Given the description of an element on the screen output the (x, y) to click on. 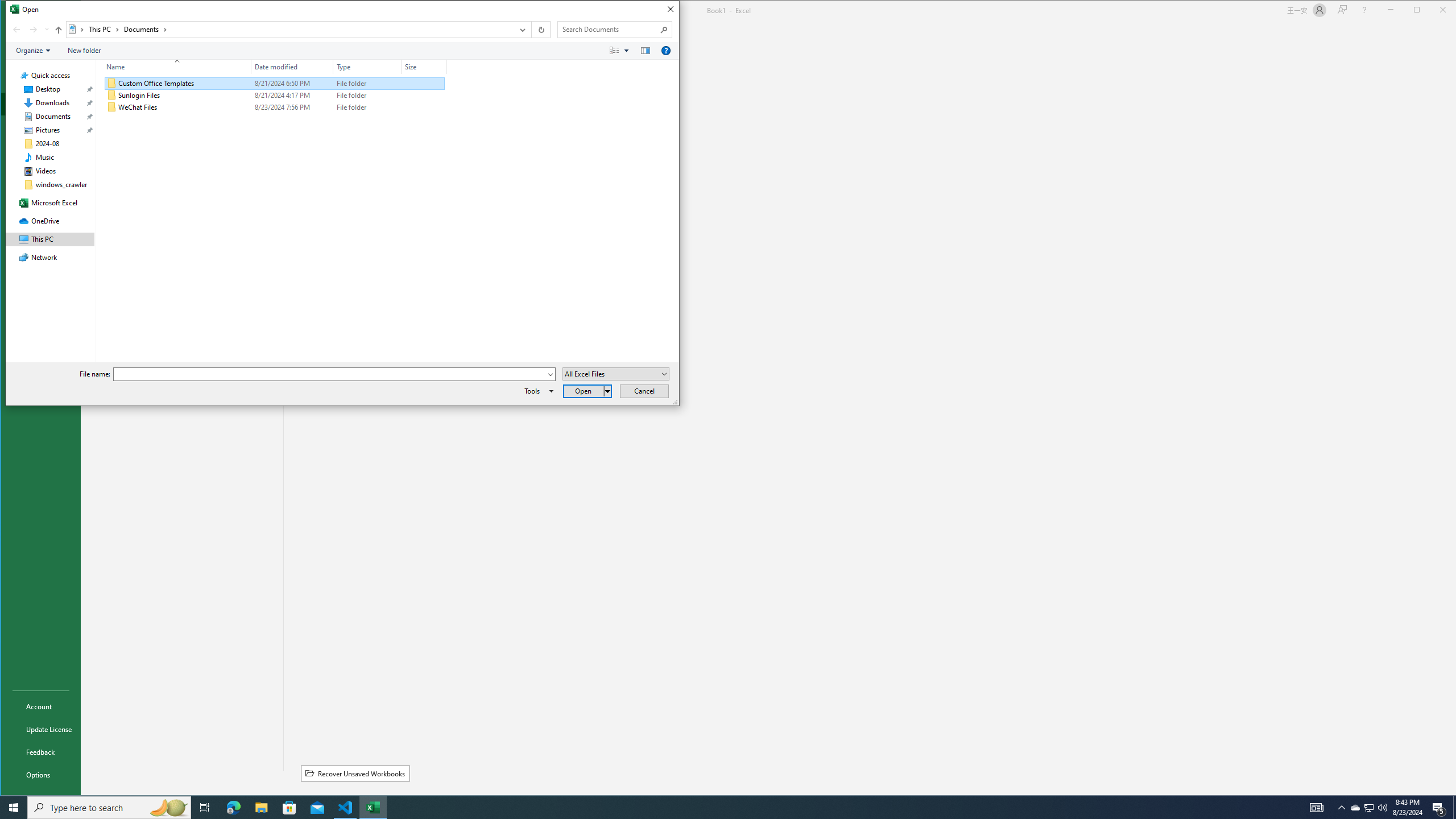
Refresh "Documents" (F5) (540, 29)
Start (13, 807)
Class: UIImage (111, 107)
Sunlogin Files (274, 95)
View Slider (626, 50)
Task View (204, 807)
File name: (329, 374)
Name (183, 107)
Notification Chevron (1341, 807)
Update License (40, 728)
Date modified (292, 66)
